Given the description of an element on the screen output the (x, y) to click on. 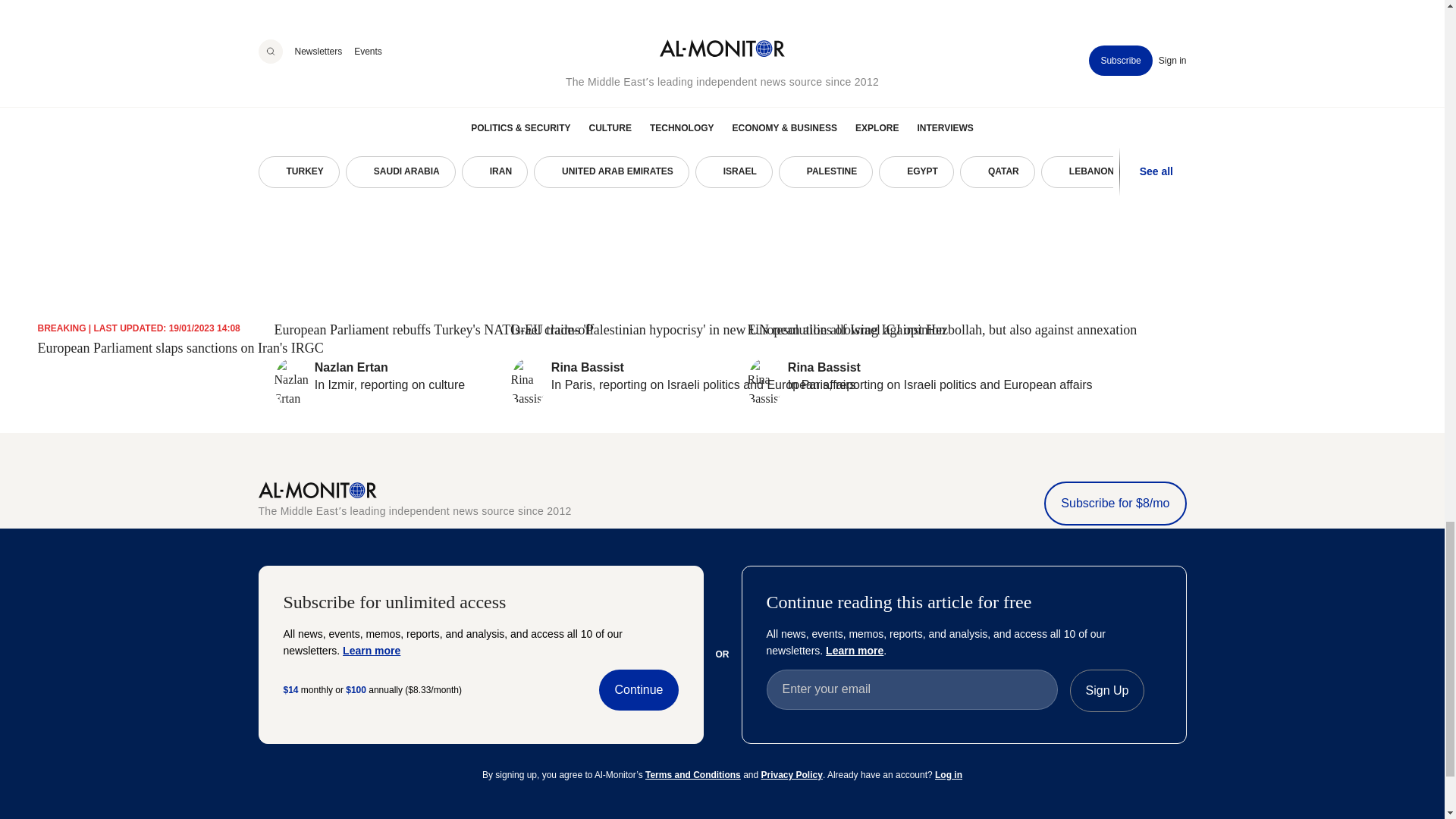
United Arab Amirates (268, 662)
